Given the description of an element on the screen output the (x, y) to click on. 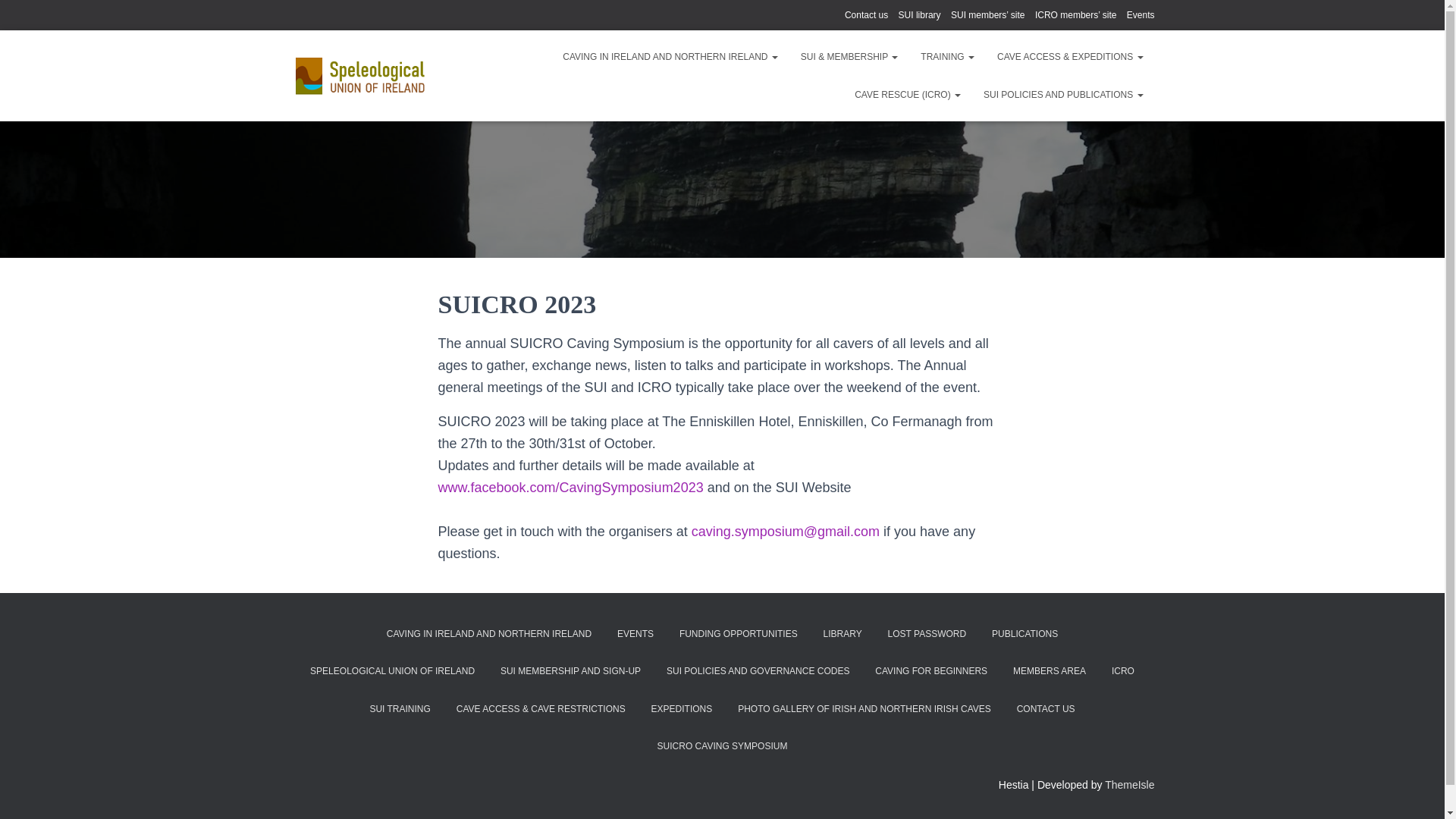
SUI library (919, 15)
Caving in Ireland and Northern Ireland (361, 75)
Events (1140, 15)
Events (1140, 15)
Contact us (866, 15)
SUI library (919, 15)
Contact us (866, 15)
CAVING IN IRELAND AND NORTHERN IRELAND (670, 56)
Caving in Ireland and Northern Ireland (670, 56)
